Given the description of an element on the screen output the (x, y) to click on. 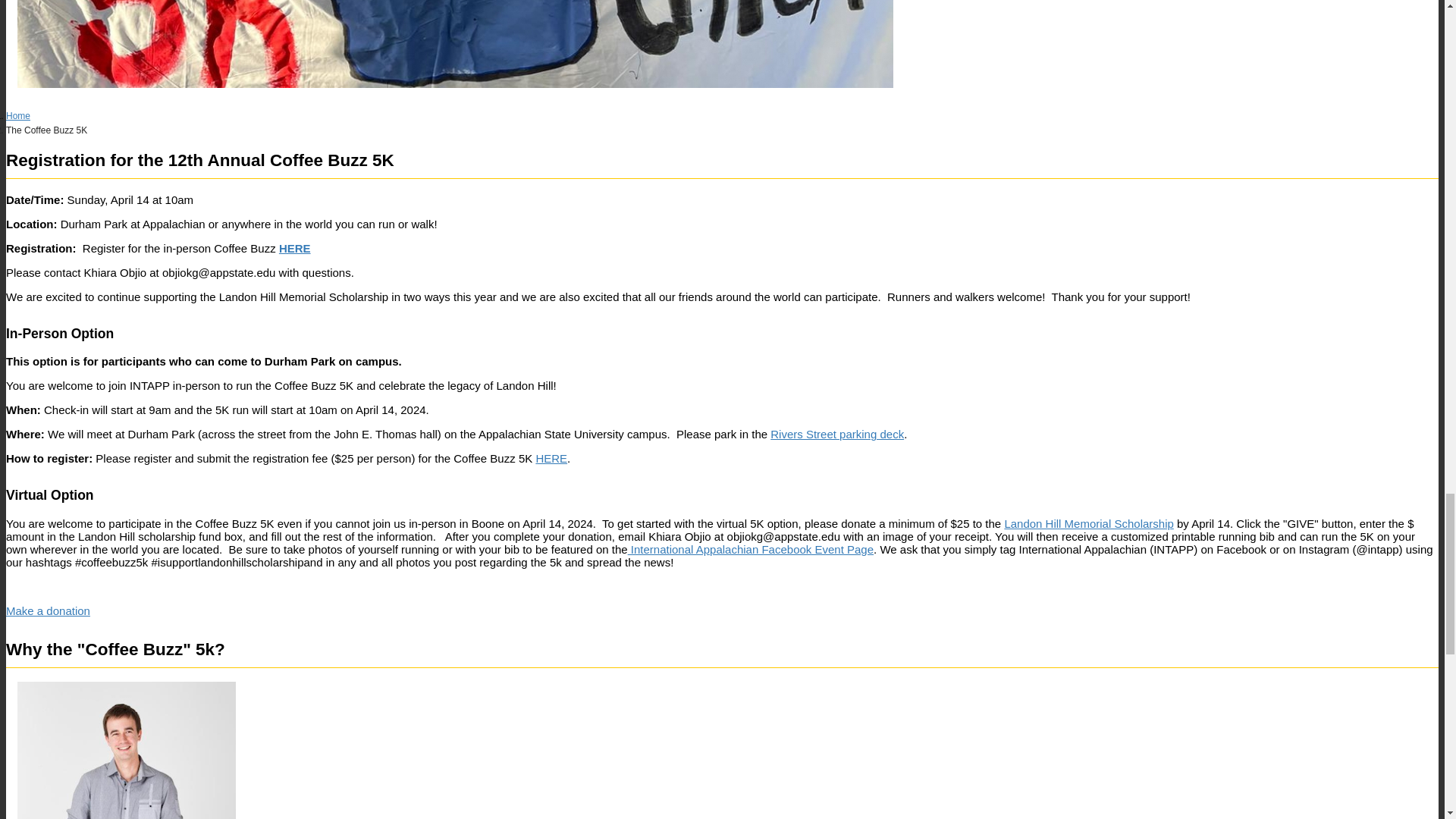
Rivers Street parking deck (837, 433)
Home (17, 115)
Make a donation (47, 610)
HERE (551, 458)
Landon Hill Memorial Scholarship (1088, 522)
 International Appalachian Facebook Event Page (750, 549)
HERE (295, 247)
